Given the description of an element on the screen output the (x, y) to click on. 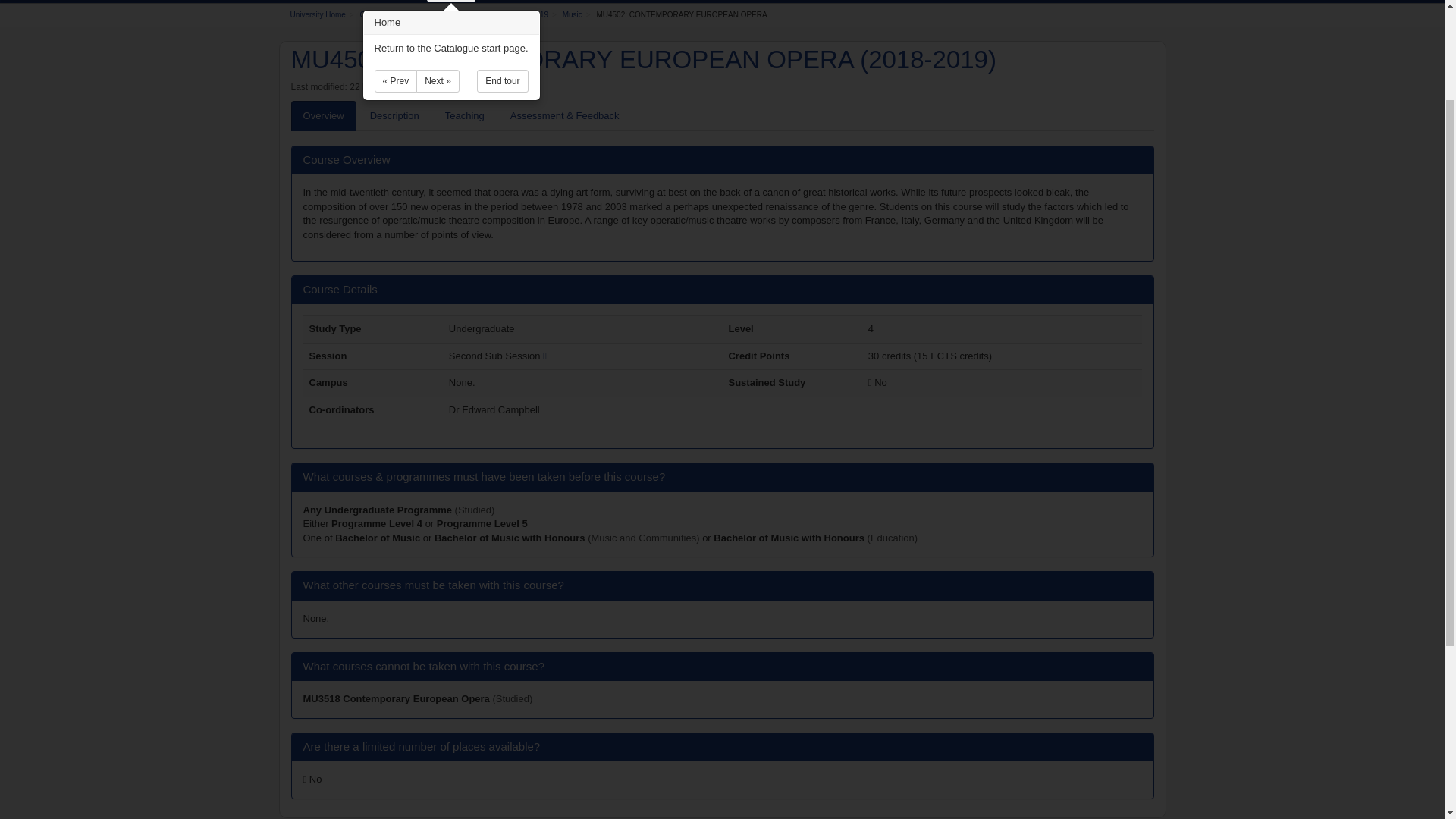
Home (451, 1)
2018-2019 (530, 14)
Description (394, 115)
End tour (502, 80)
Music (572, 14)
Degree Prescriptions (657, 1)
University Home (317, 14)
Overview (323, 115)
Catalogue of Courses (395, 14)
Undergraduate (471, 14)
Teaching (464, 115)
UG (378, 509)
Previous Catalogues (536, 1)
